Given the description of an element on the screen output the (x, y) to click on. 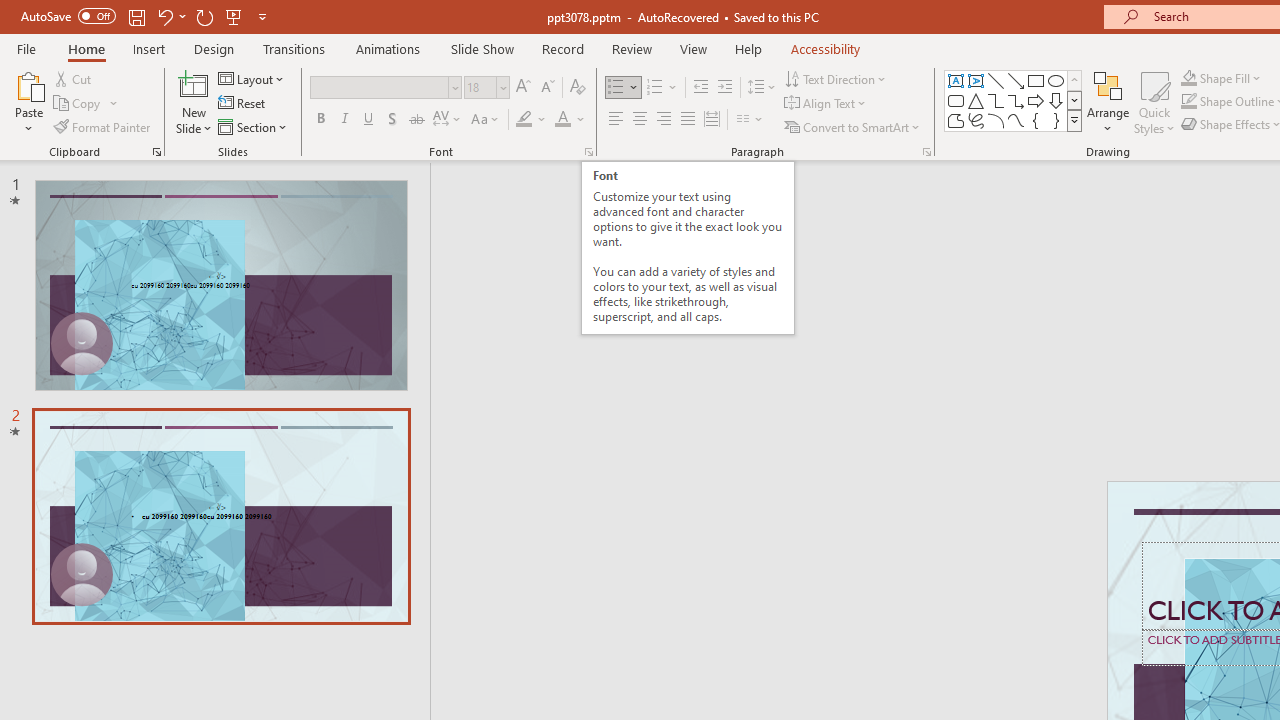
Freeform: Shape (955, 120)
Shape Fill Dark Green, Accent 2 (1188, 78)
Align Text (826, 103)
Numbering (661, 87)
Open (502, 87)
Insert (149, 48)
Columns (750, 119)
Rectangle: Rounded Corners (955, 100)
Animations (388, 48)
Slide (221, 515)
Transitions (294, 48)
AutomationID: ShapesInsertGallery (1014, 100)
Numbering (654, 87)
Format Painter (103, 126)
